Given the description of an element on the screen output the (x, y) to click on. 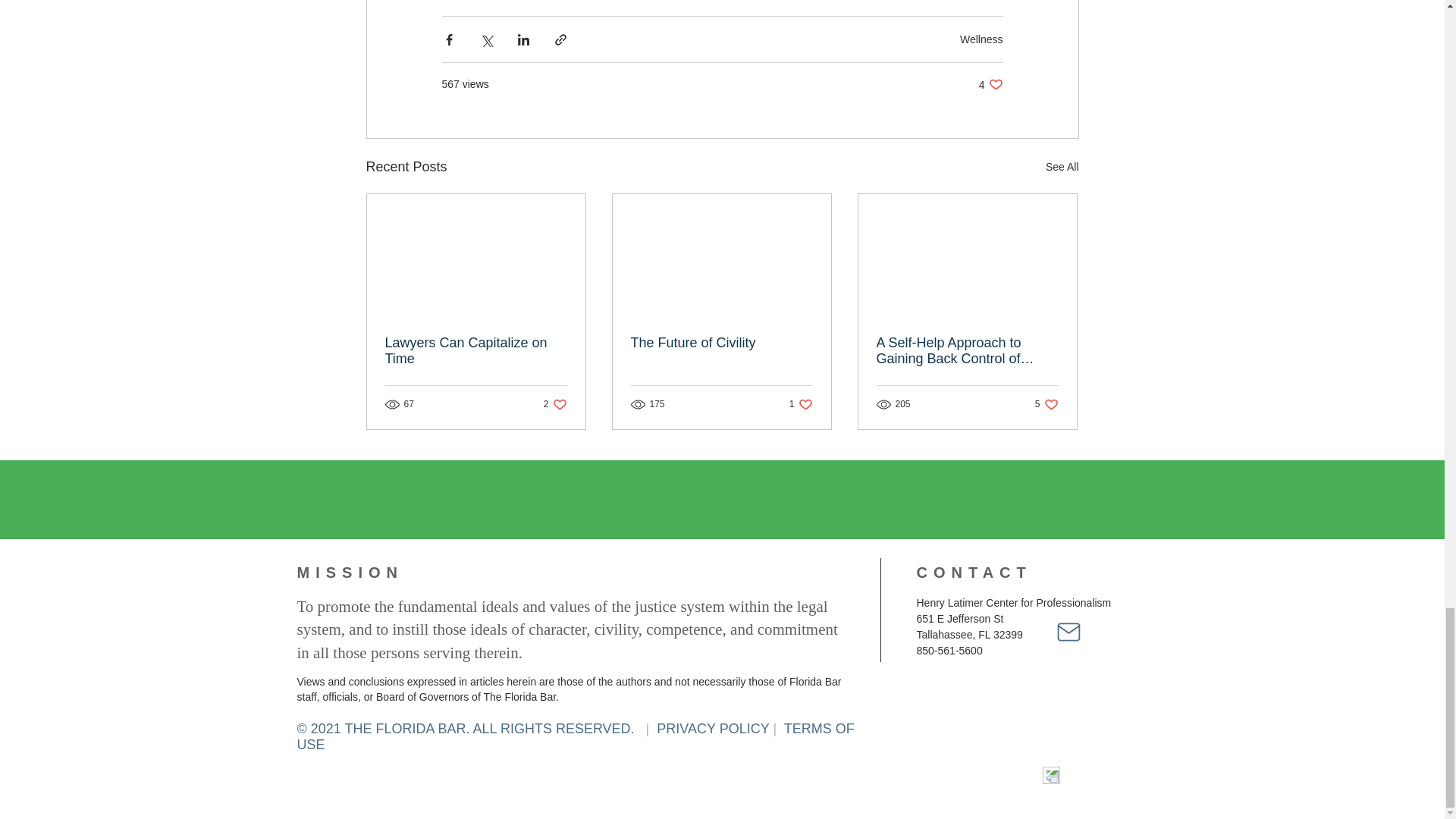
Wellness (555, 403)
Lawyers Can Capitalize on Time (981, 38)
See All (476, 350)
